Given the description of an element on the screen output the (x, y) to click on. 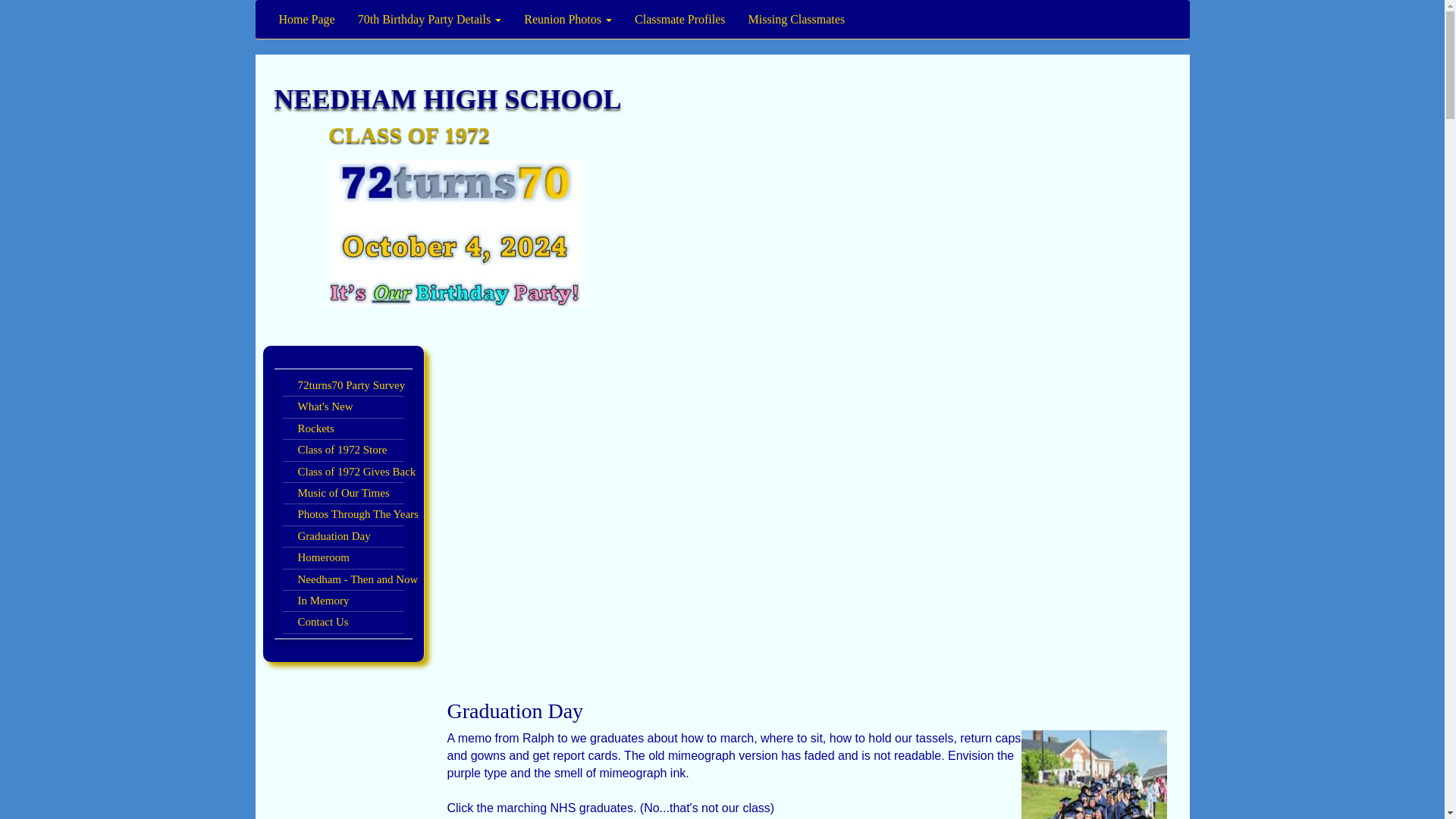
Reunion Photos (567, 19)
Home Page (306, 19)
Missing Classmates (796, 19)
Classmate Profiles (679, 19)
70th Birthday Party Details (429, 19)
